Given the description of an element on the screen output the (x, y) to click on. 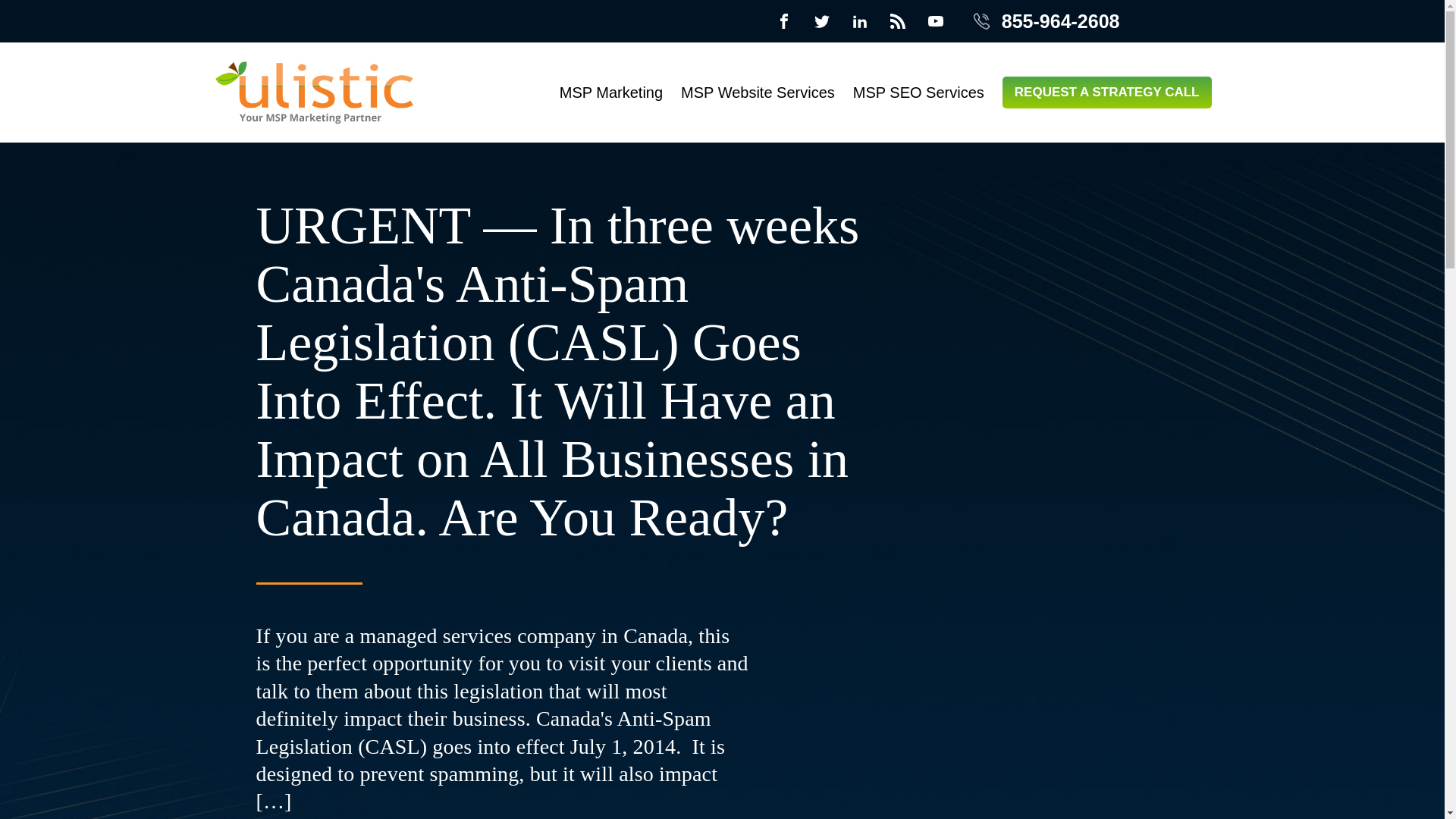
MSP Website Services (757, 92)
MSP Marketing (610, 92)
855-964-2608 (1046, 20)
MSP SEO Services (918, 92)
REQUEST A STRATEGY CALL (1107, 92)
